Given the description of an element on the screen output the (x, y) to click on. 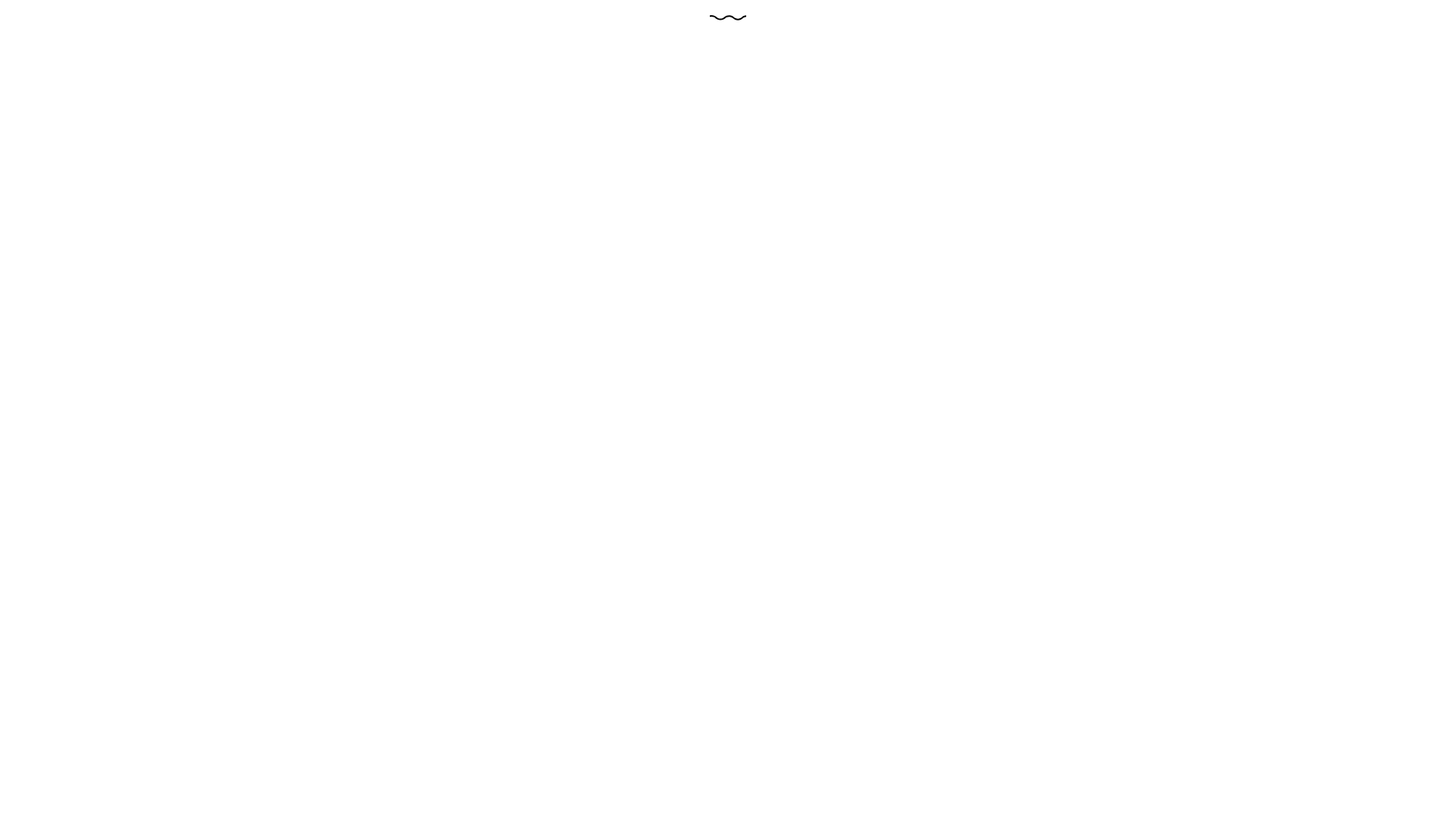
loading animation Element type: hover (727, 18)
